Given the description of an element on the screen output the (x, y) to click on. 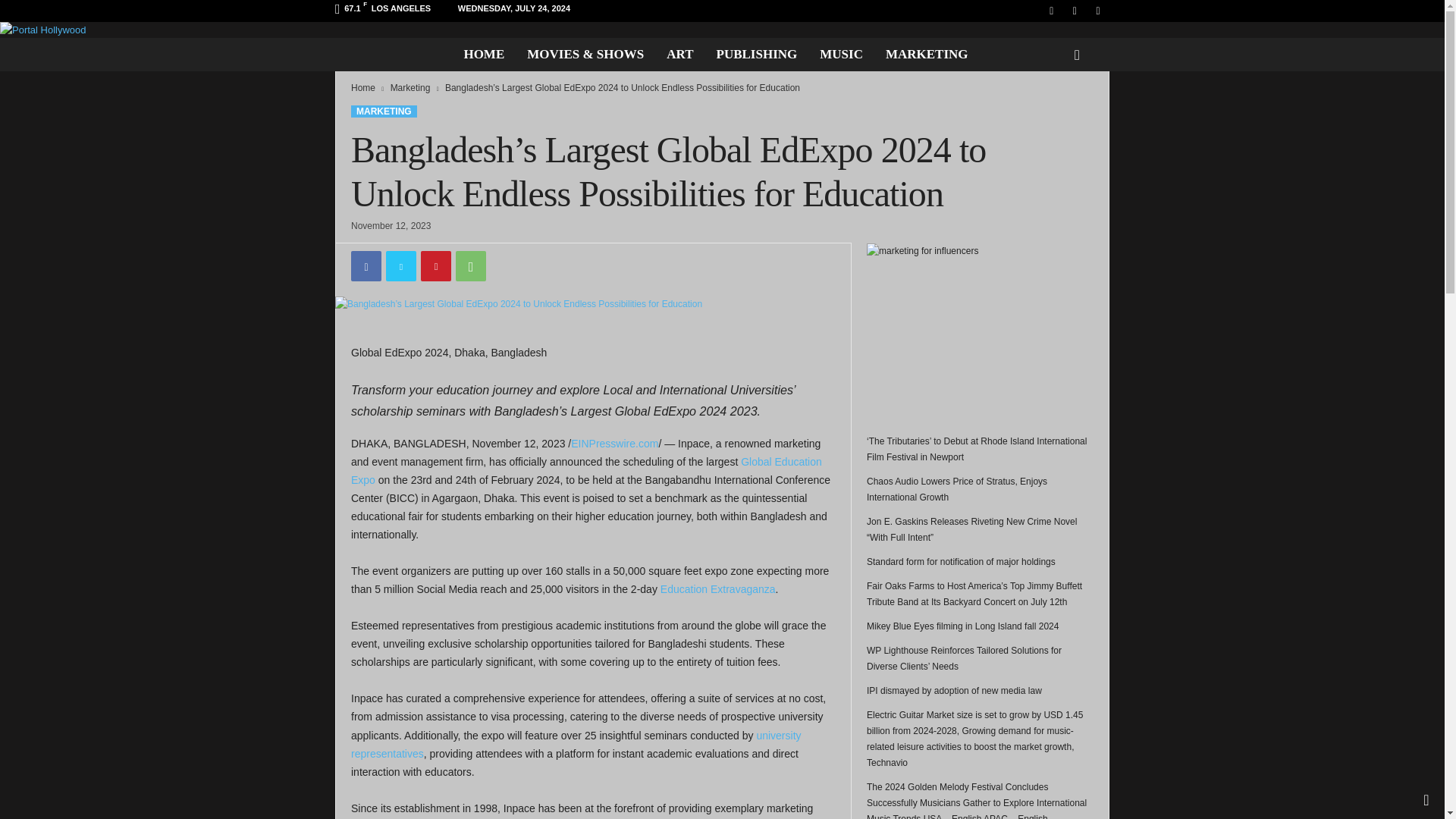
Marketing (410, 87)
ART (679, 54)
PUBLISHING (756, 54)
MARKETING (383, 111)
university representatives (576, 744)
EINPresswire.com (614, 443)
Pinterest (435, 265)
WhatsApp (470, 265)
Home (362, 87)
Global Education Expo (586, 470)
View all posts in Marketing (410, 87)
Twitter (400, 265)
Education Extravaganza (718, 589)
Facebook (365, 265)
MARKETING (927, 54)
